Given the description of an element on the screen output the (x, y) to click on. 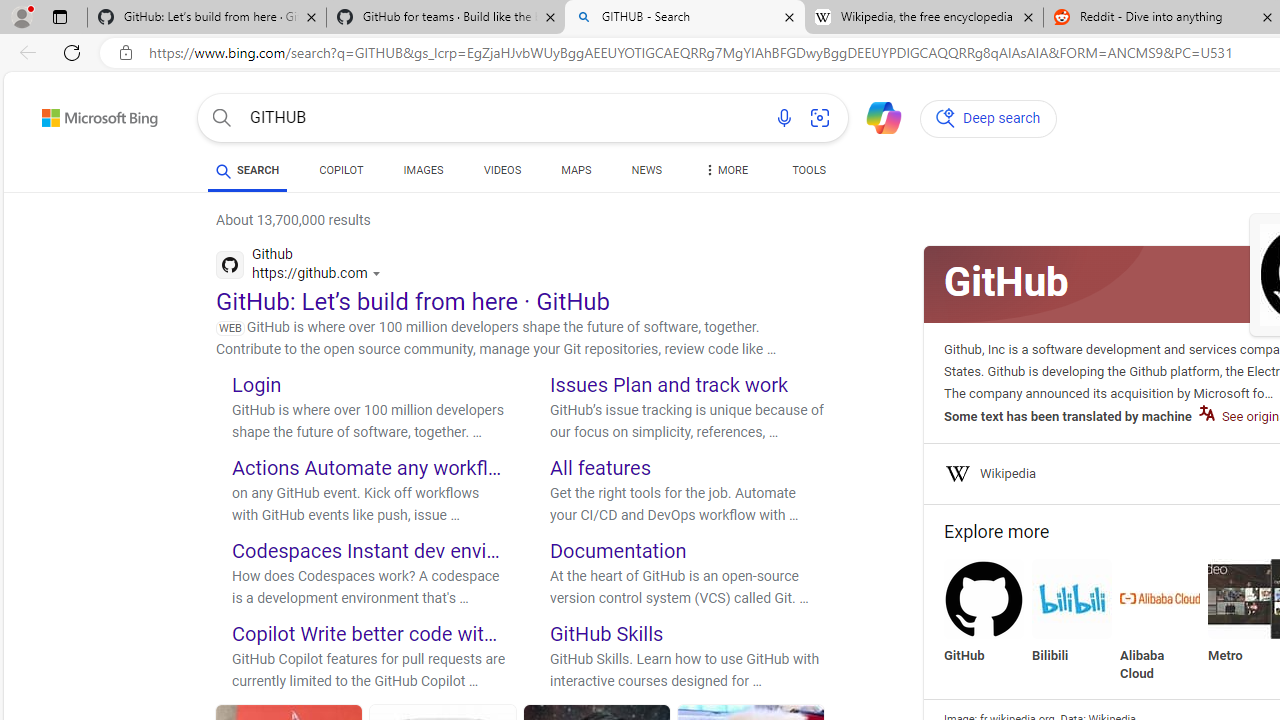
Bilibili (1071, 611)
Alibaba Cloud (1160, 620)
MAPS (576, 173)
Wikipedia, the free encyclopedia (924, 17)
Search button (221, 117)
SEARCH (247, 170)
Alibaba Cloud (1160, 598)
